Given the description of an element on the screen output the (x, y) to click on. 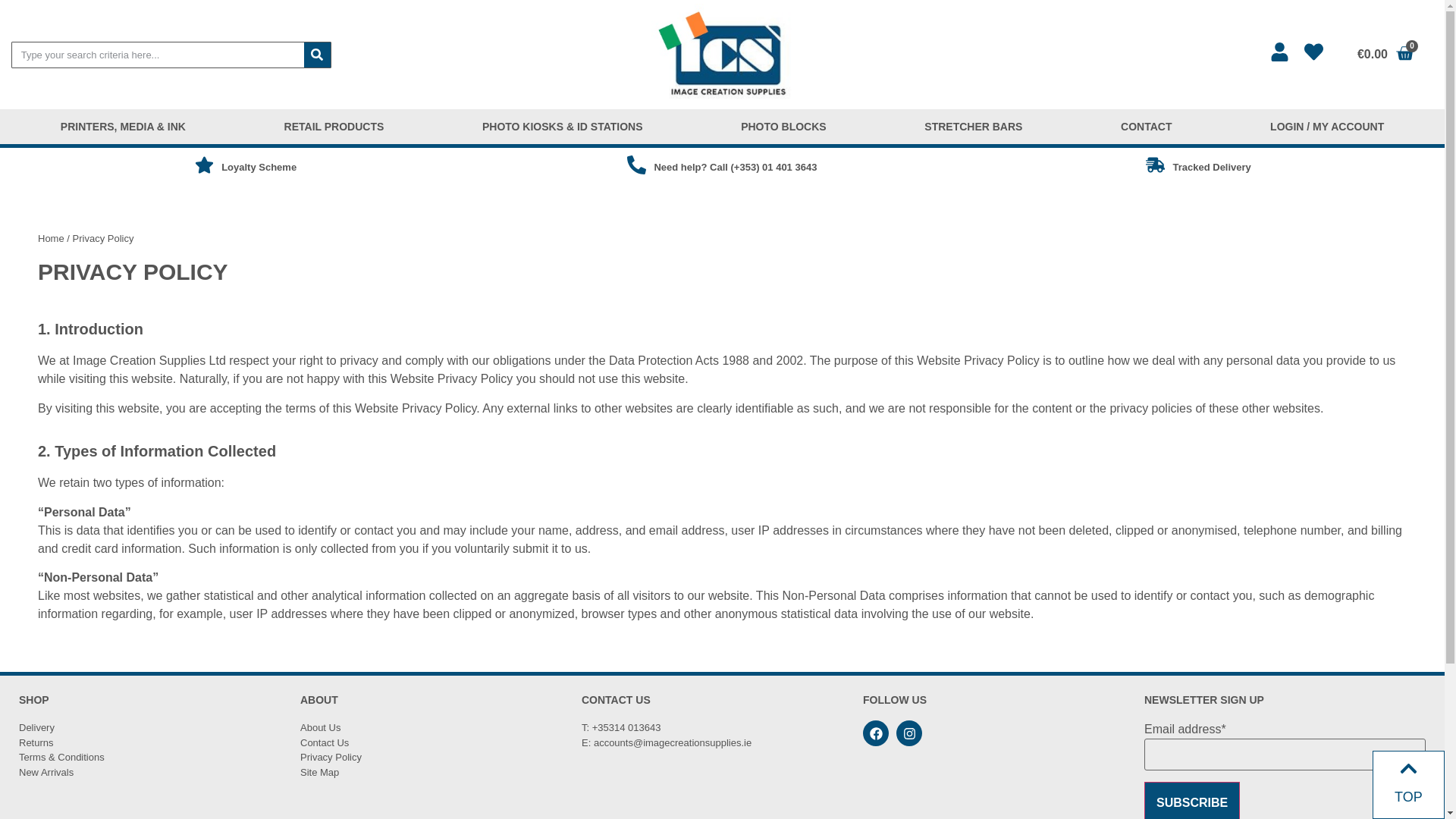
TOP (1408, 796)
STRETCHER BARS (973, 126)
CONTACT (1146, 126)
RETAIL PRODUCTS (333, 126)
PHOTO BLOCKS (783, 126)
Subscribe (1192, 800)
